Given the description of an element on the screen output the (x, y) to click on. 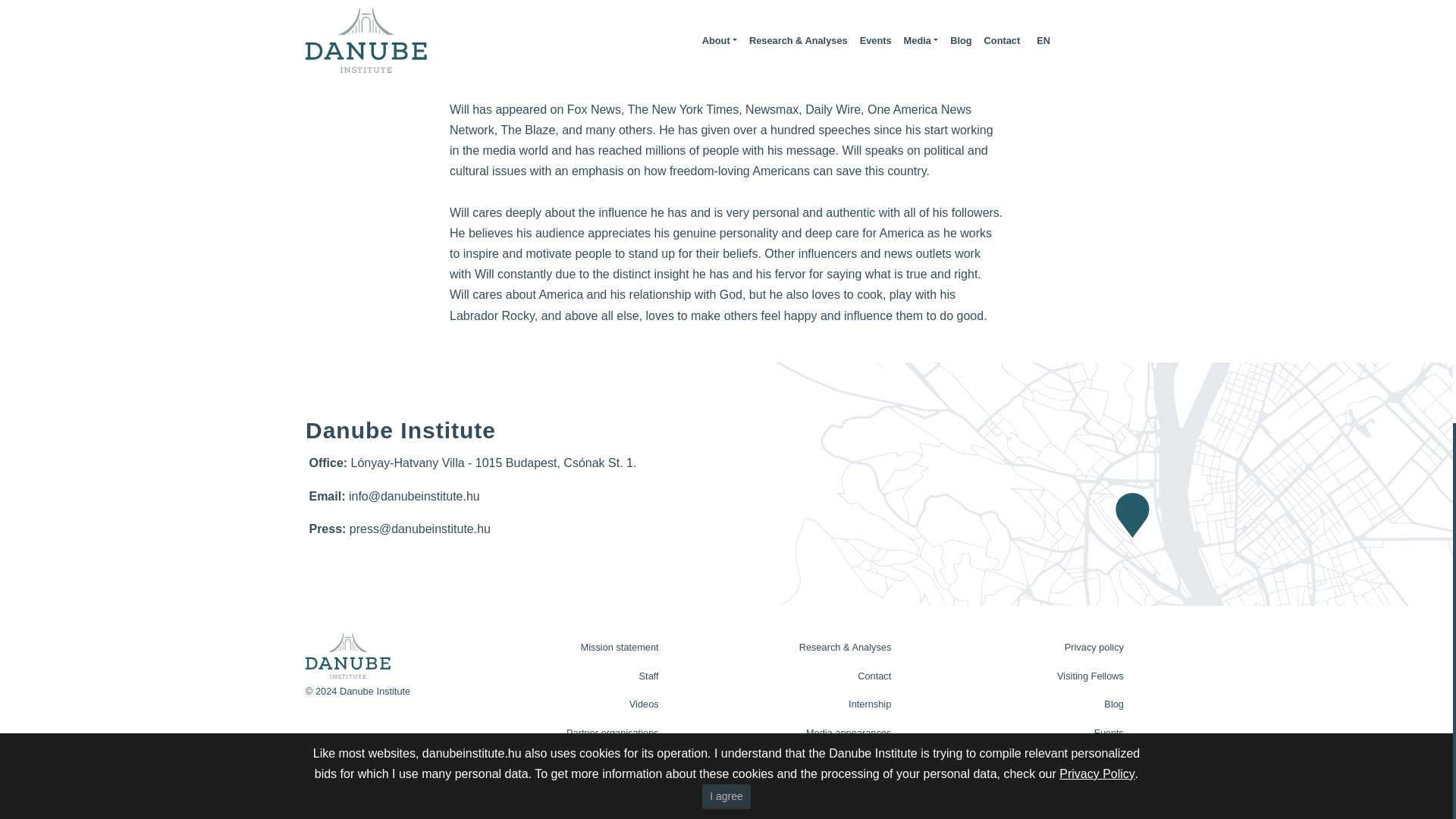
Videos (566, 704)
Visiting Fellows (1030, 676)
YouTube video player (726, 46)
Mission statement (566, 647)
Privacy policy (1030, 647)
Staff (566, 676)
Contact (799, 676)
Mission statement (566, 647)
